Given the description of an element on the screen output the (x, y) to click on. 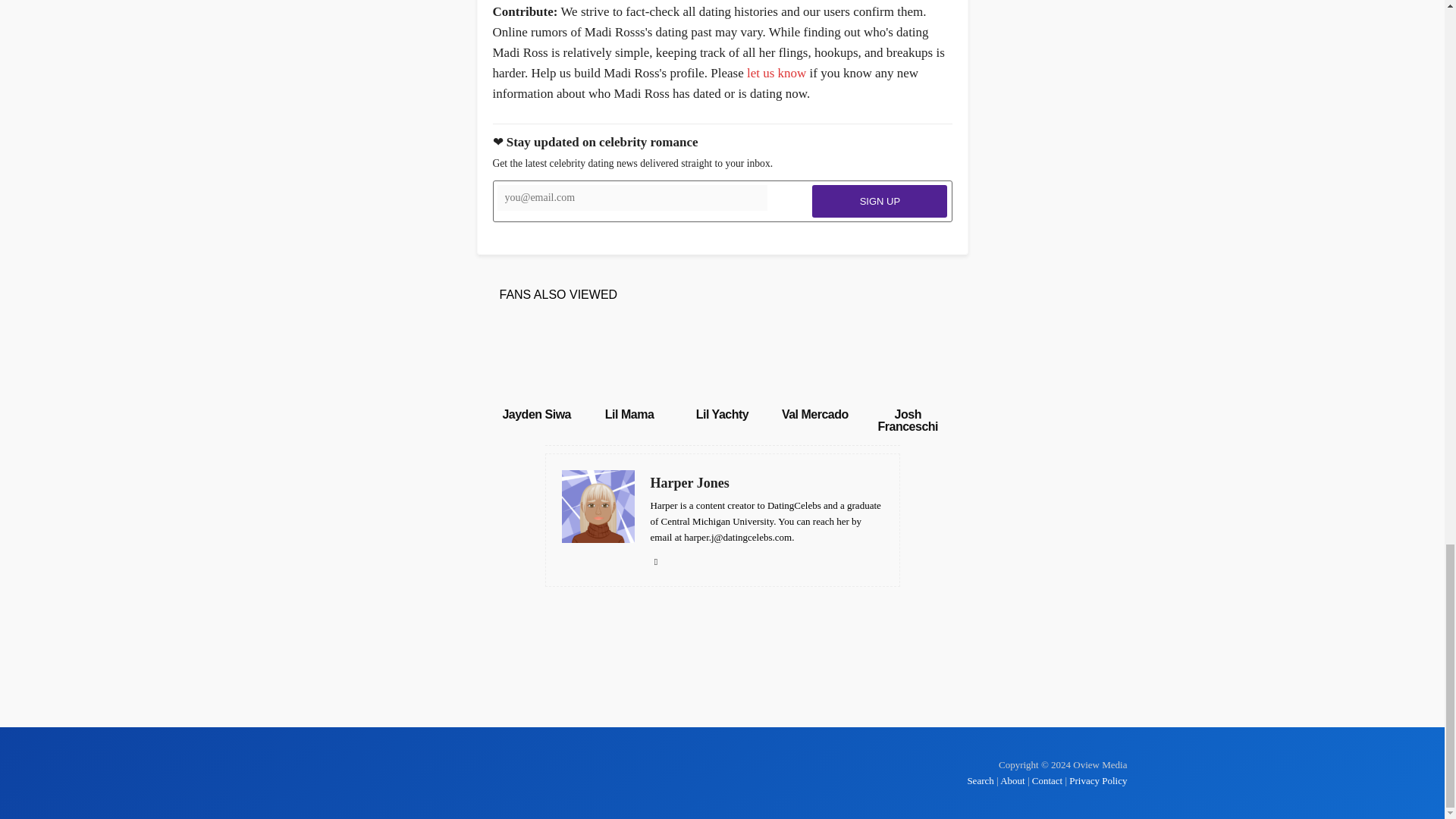
SIGN UP (879, 201)
Contact (1047, 780)
Lil Mama (629, 360)
About (1012, 780)
Lil Yachty (721, 413)
Search (980, 780)
Privacy Policy (1097, 780)
Jayden Siwa (536, 360)
Jayden Siwa (536, 413)
SIGN UP (879, 201)
let us know (776, 73)
Josh Franceschi (907, 420)
Lil Mama (629, 413)
Val Mercado (814, 413)
Lil Mama (629, 413)
